Given the description of an element on the screen output the (x, y) to click on. 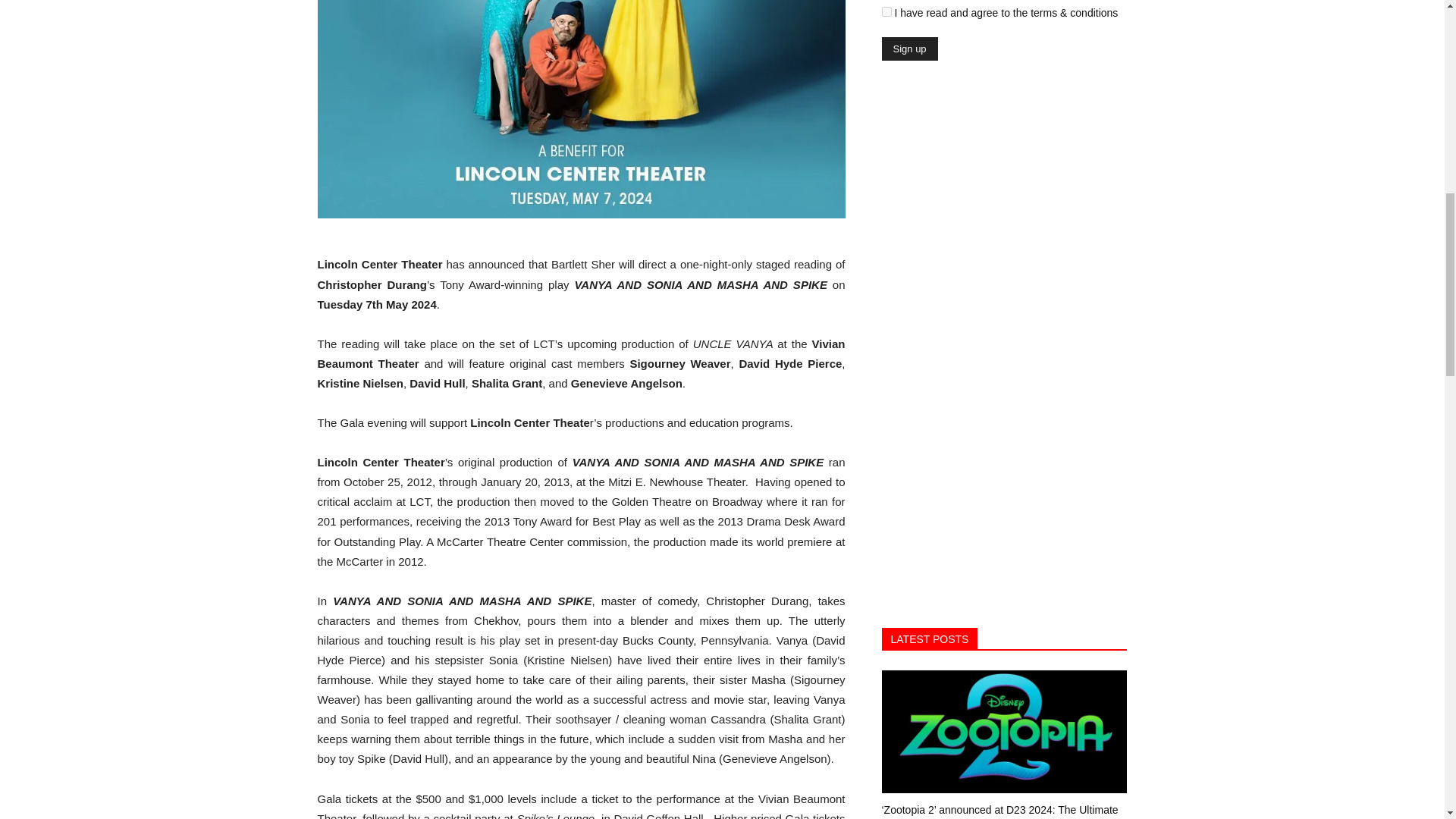
VANYA AND SONIA AND MASHA AND SPIKE (580, 109)
1 (885, 11)
Sign up (908, 48)
